Given the description of an element on the screen output the (x, y) to click on. 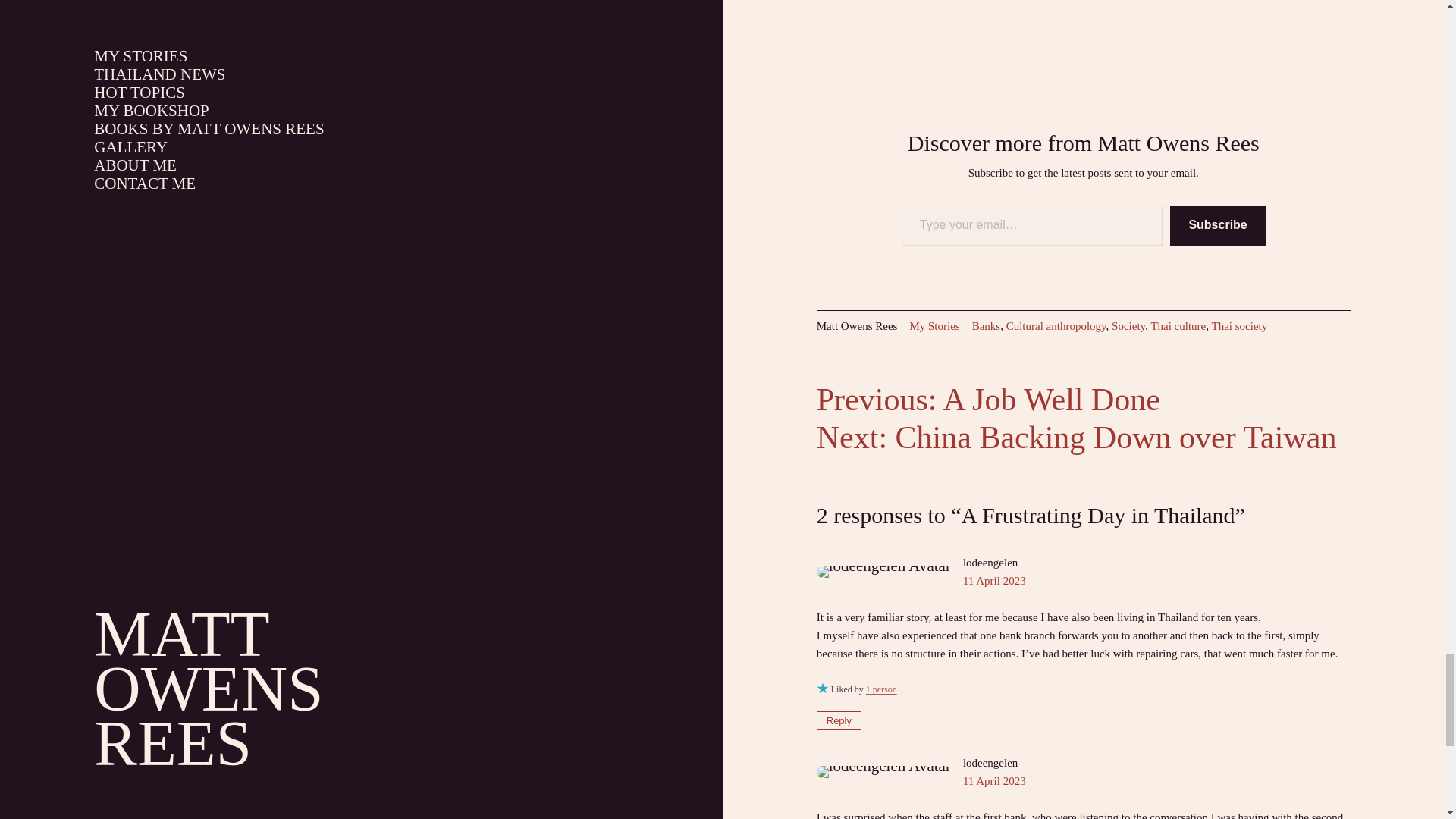
My Stories (933, 326)
Reply (838, 720)
Society (1128, 326)
Previous: A Job Well Done (988, 399)
1 person (881, 688)
Cultural anthropology (1056, 326)
11 April 2023 (994, 780)
11 April 2023 (994, 580)
Banks (986, 326)
Next: China Backing Down over Taiwan (1076, 437)
